Given the description of an element on the screen output the (x, y) to click on. 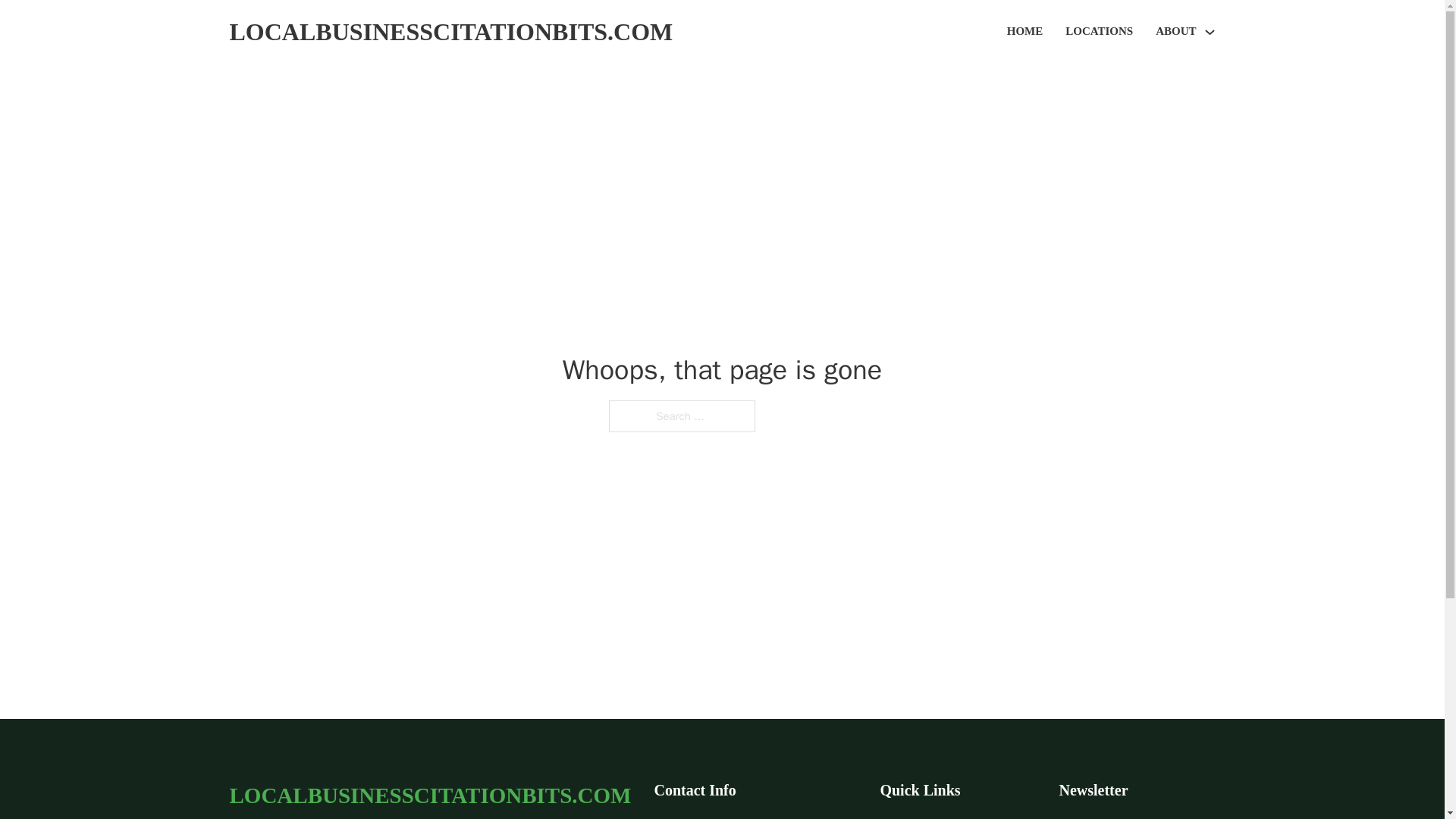
HOME (1025, 31)
LOCALBUSINESSCITATIONBITS.COM (450, 31)
LOCALBUSINESSCITATIONBITS.COM (429, 795)
LOCATIONS (1098, 31)
